Given the description of an element on the screen output the (x, y) to click on. 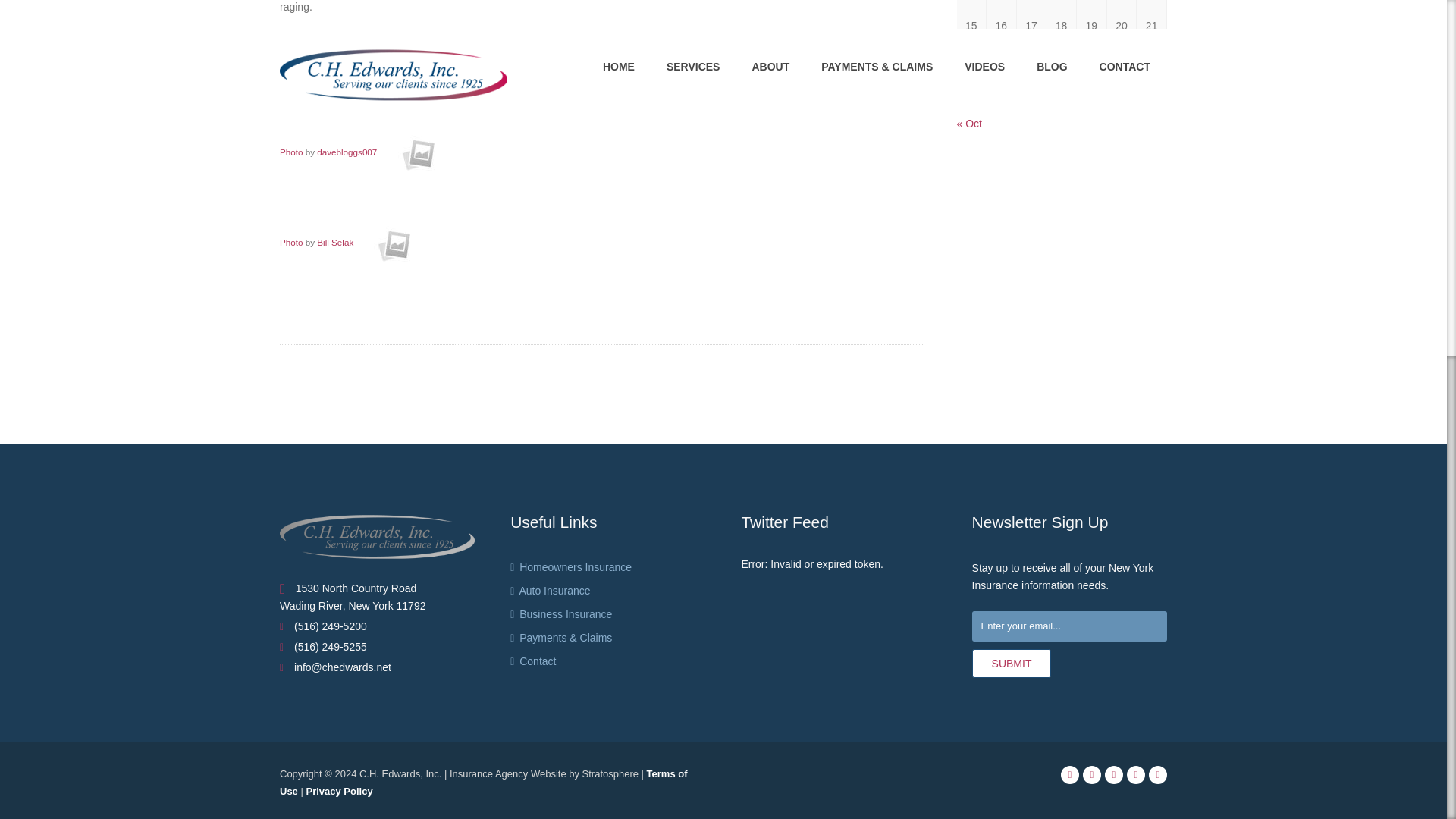
Submit (1011, 663)
Image inserted by the ImageInject WordPress plugin (290, 243)
Attribution License (417, 152)
Enter your email... (1069, 625)
Attribution-NoDerivs License (392, 243)
Image inserted by the ImageInject WordPress plugin (290, 152)
